Given the description of an element on the screen output the (x, y) to click on. 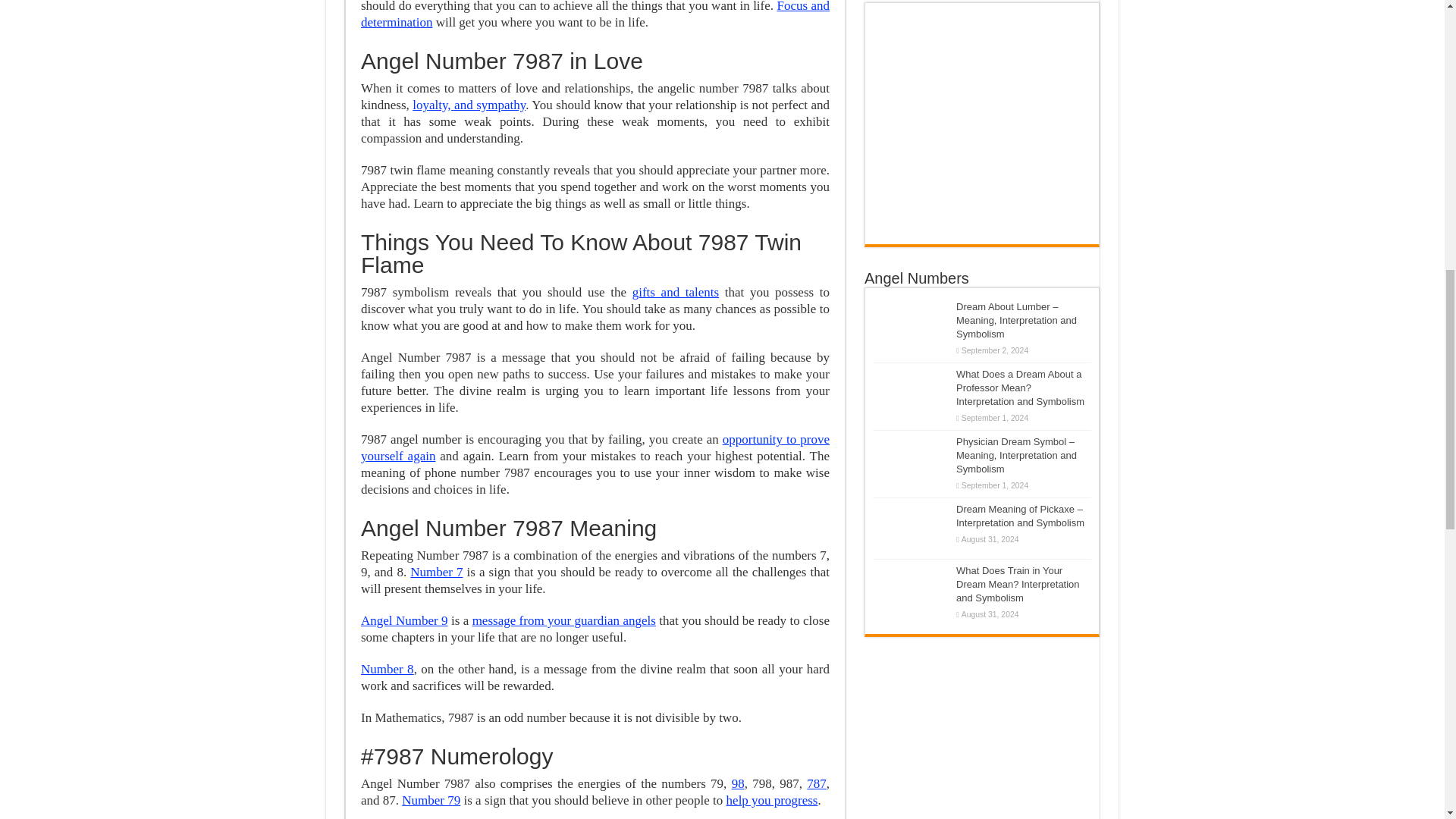
787 (816, 783)
98 (738, 783)
Number 79 (430, 800)
message from your guardian angels (563, 620)
Number 8 (387, 668)
loyalty, and sympathy (468, 104)
help you progress (772, 800)
opportunity to prove yourself again (595, 447)
gifts and talents (675, 292)
Number 7 (436, 572)
